Given the description of an element on the screen output the (x, y) to click on. 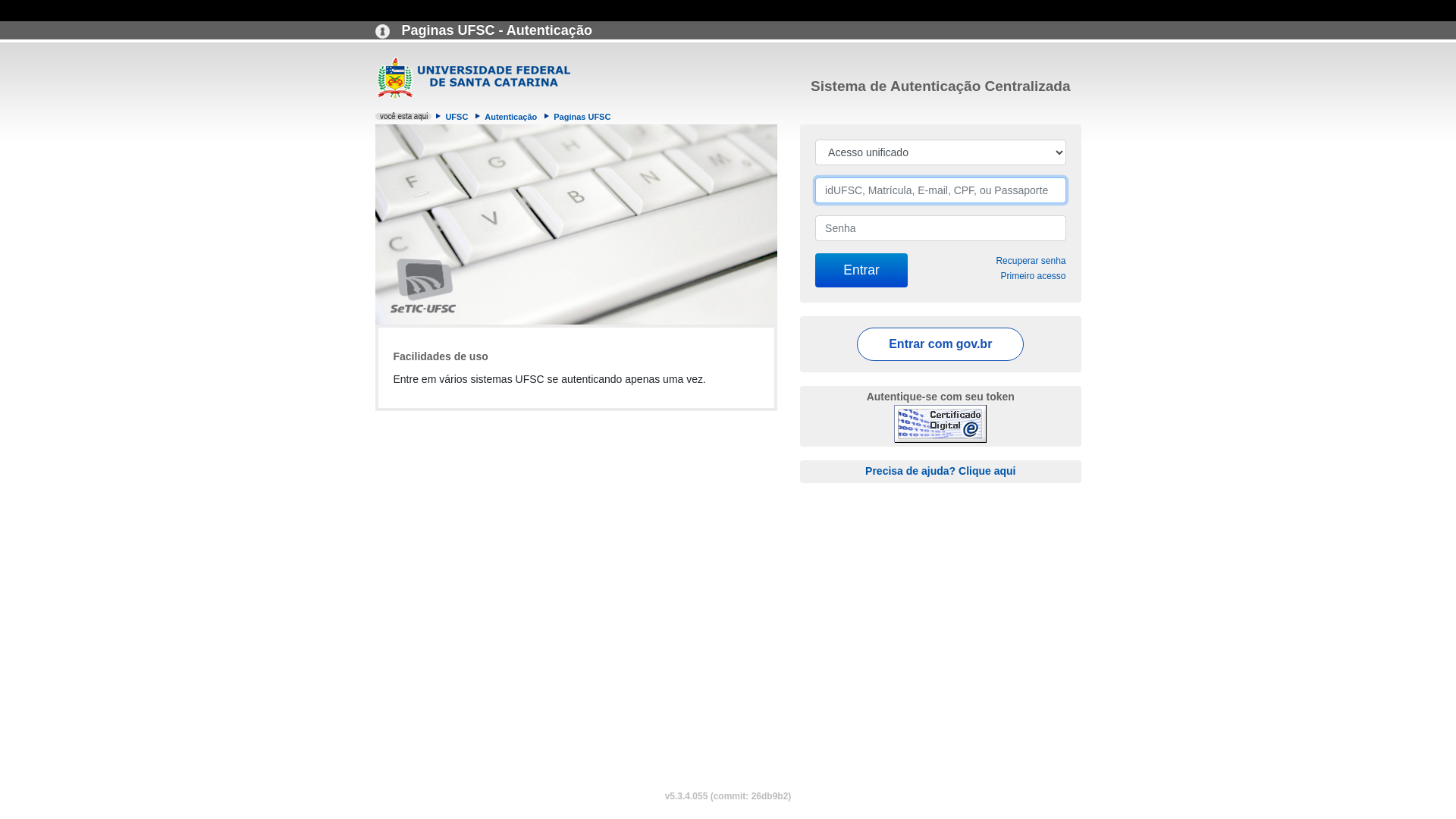
Paginas UFSC Element type: text (581, 116)
Primeiro acesso Element type: text (1032, 275)
Recuperar senha Element type: text (1030, 260)
UFSC Element type: text (456, 116)
Entrar com
gov.br Element type: text (939, 343)
Entrar Element type: text (861, 270)
Precisa de ajuda? Clique aqui Element type: text (940, 470)
